Given the description of an element on the screen output the (x, y) to click on. 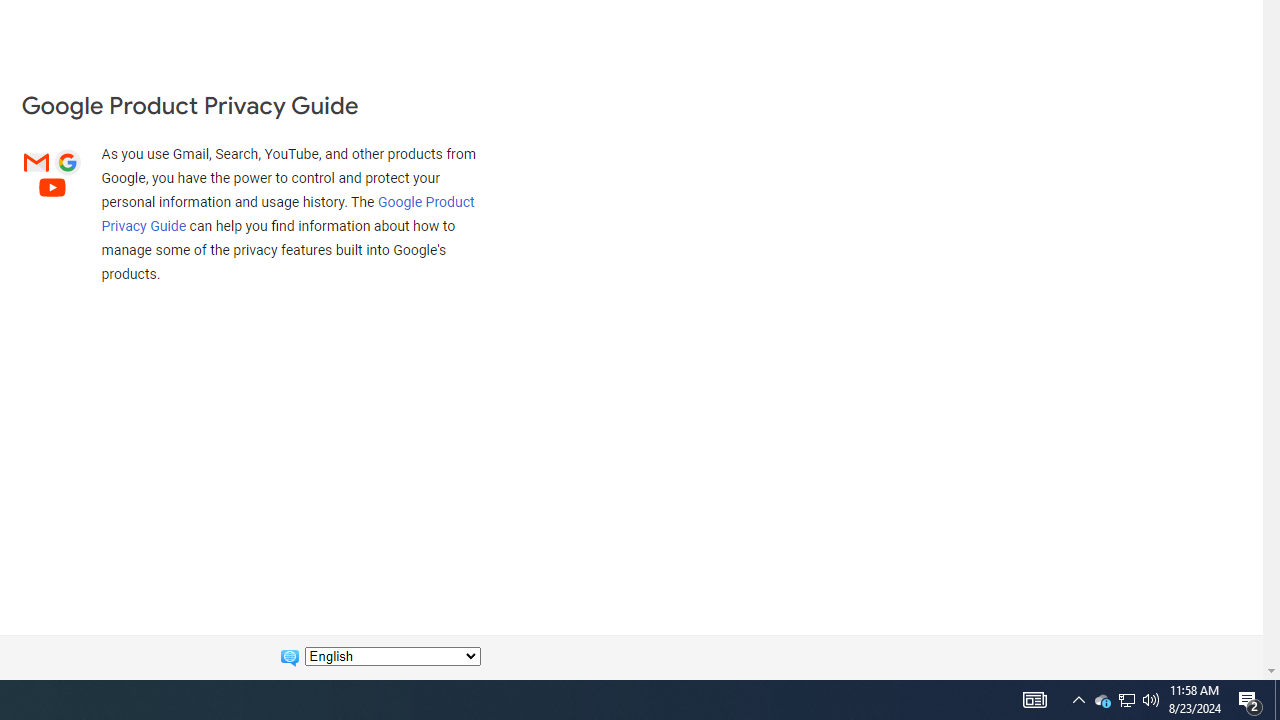
Change language: (392, 656)
Google Product Privacy Guide (287, 213)
